Given the description of an element on the screen output the (x, y) to click on. 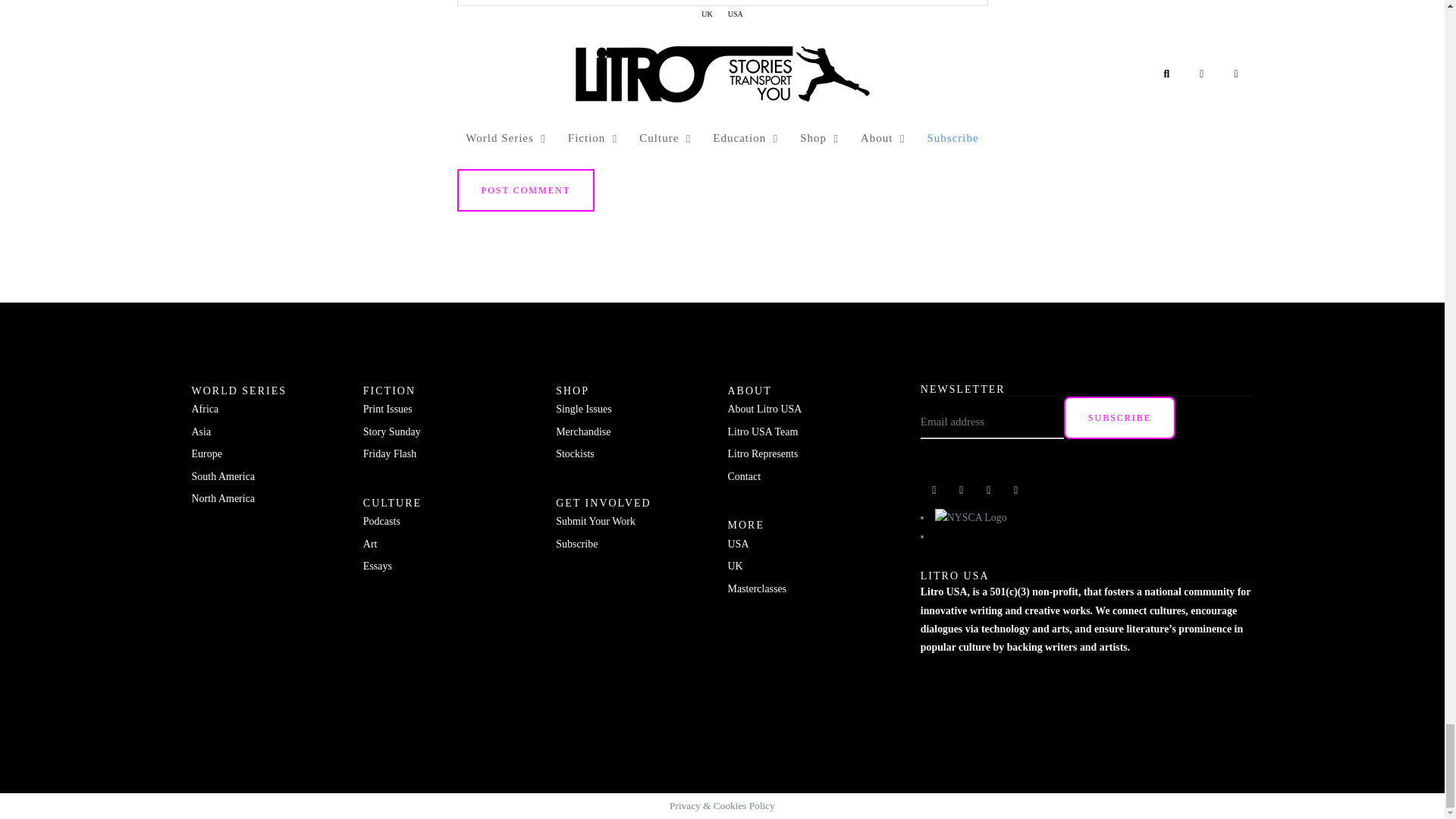
yes (461, 116)
Instagram (989, 490)
Spotify (961, 490)
Facebook (933, 490)
Subscribe (1119, 417)
Twitter (1016, 490)
Post Comment (525, 189)
